Given the description of an element on the screen output the (x, y) to click on. 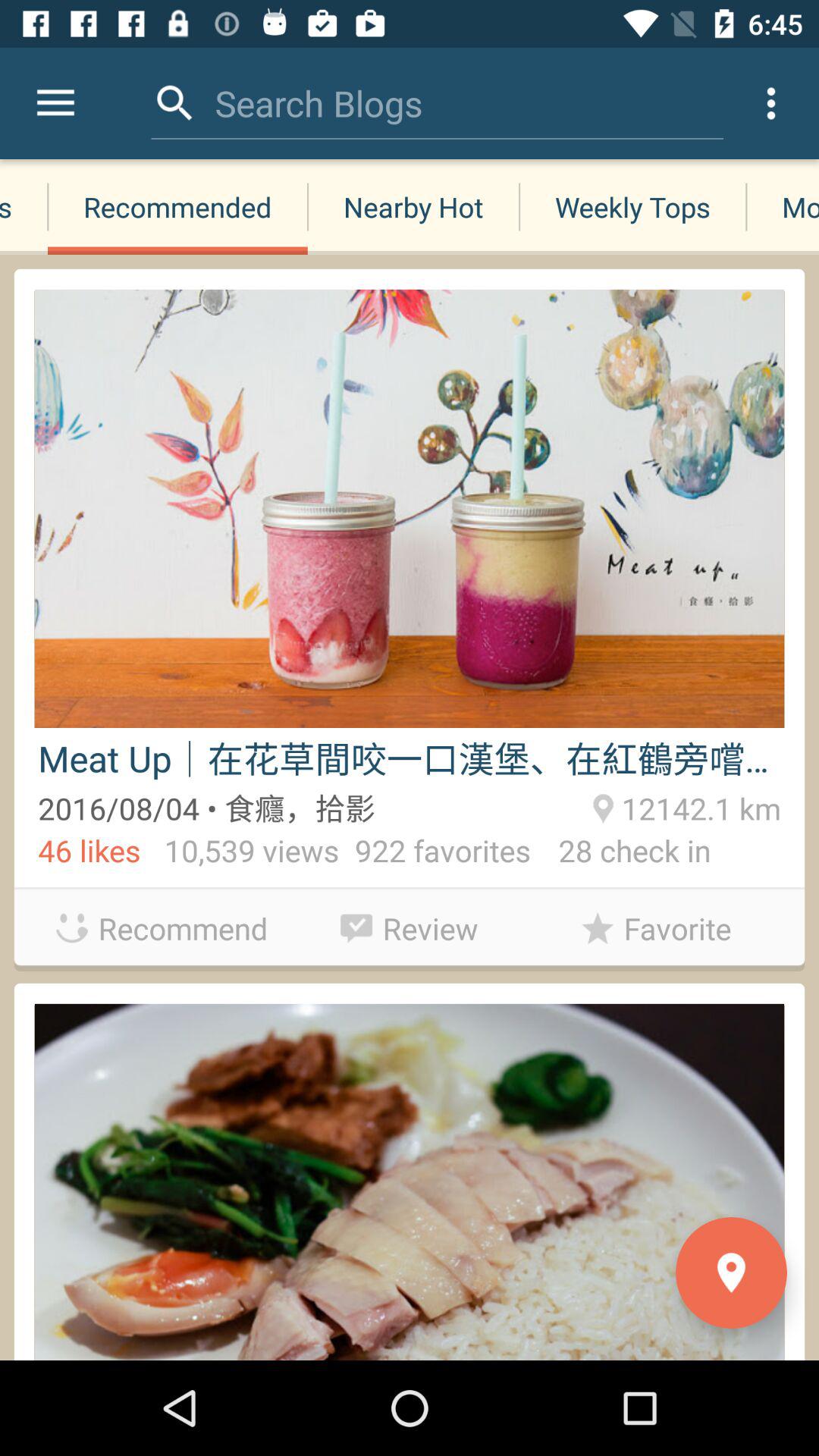
press the item to the right of the recommended (413, 206)
